Given the description of an element on the screen output the (x, y) to click on. 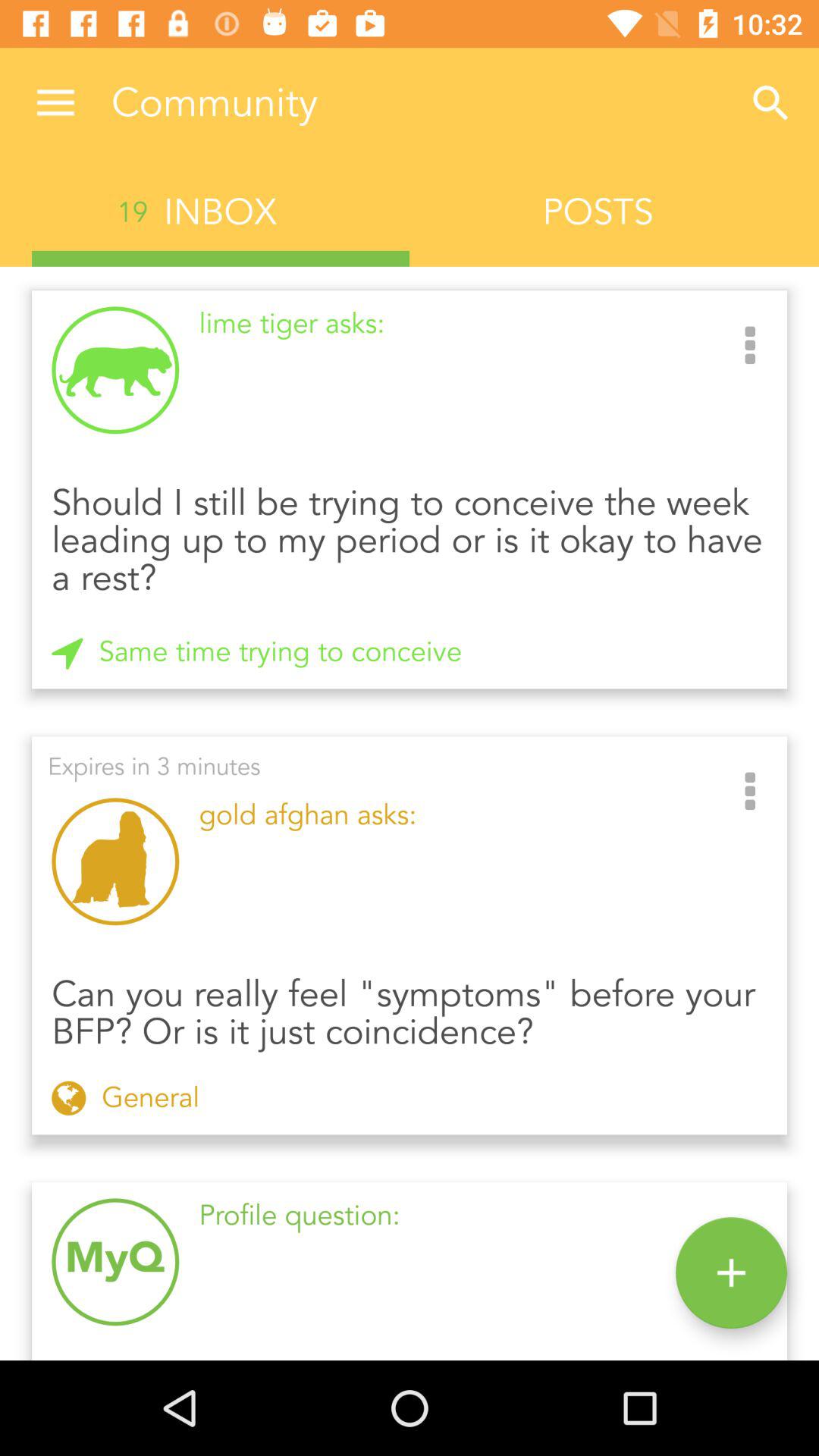
choose the icon next to community item (55, 103)
